Given the description of an element on the screen output the (x, y) to click on. 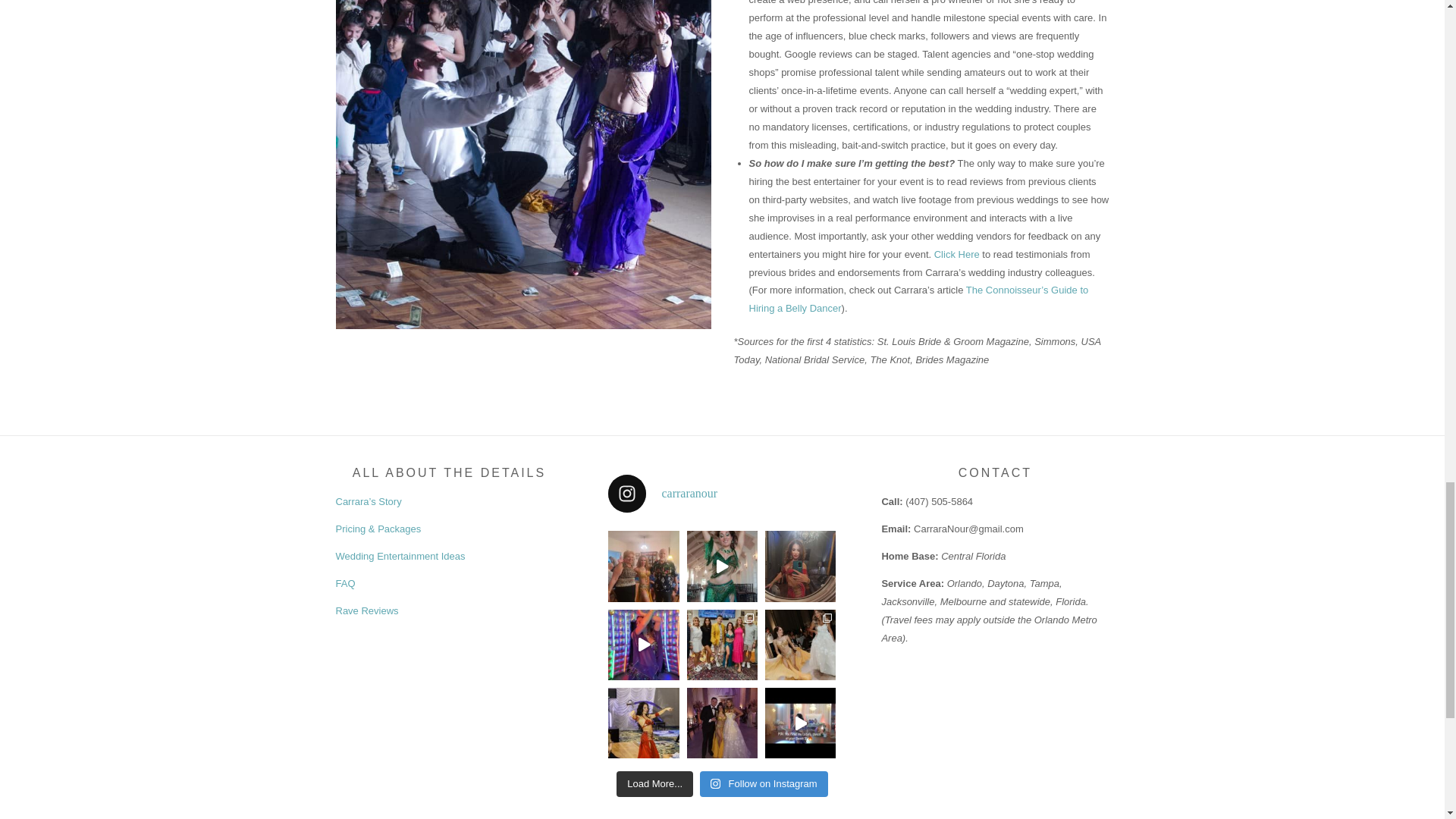
BellyDancerFloridaWeddings (522, 164)
Rave Reviews (365, 610)
carraranour (721, 493)
Wedding Entertainment Ideas (399, 555)
Click Here (958, 254)
FAQ (344, 583)
